Given the description of an element on the screen output the (x, y) to click on. 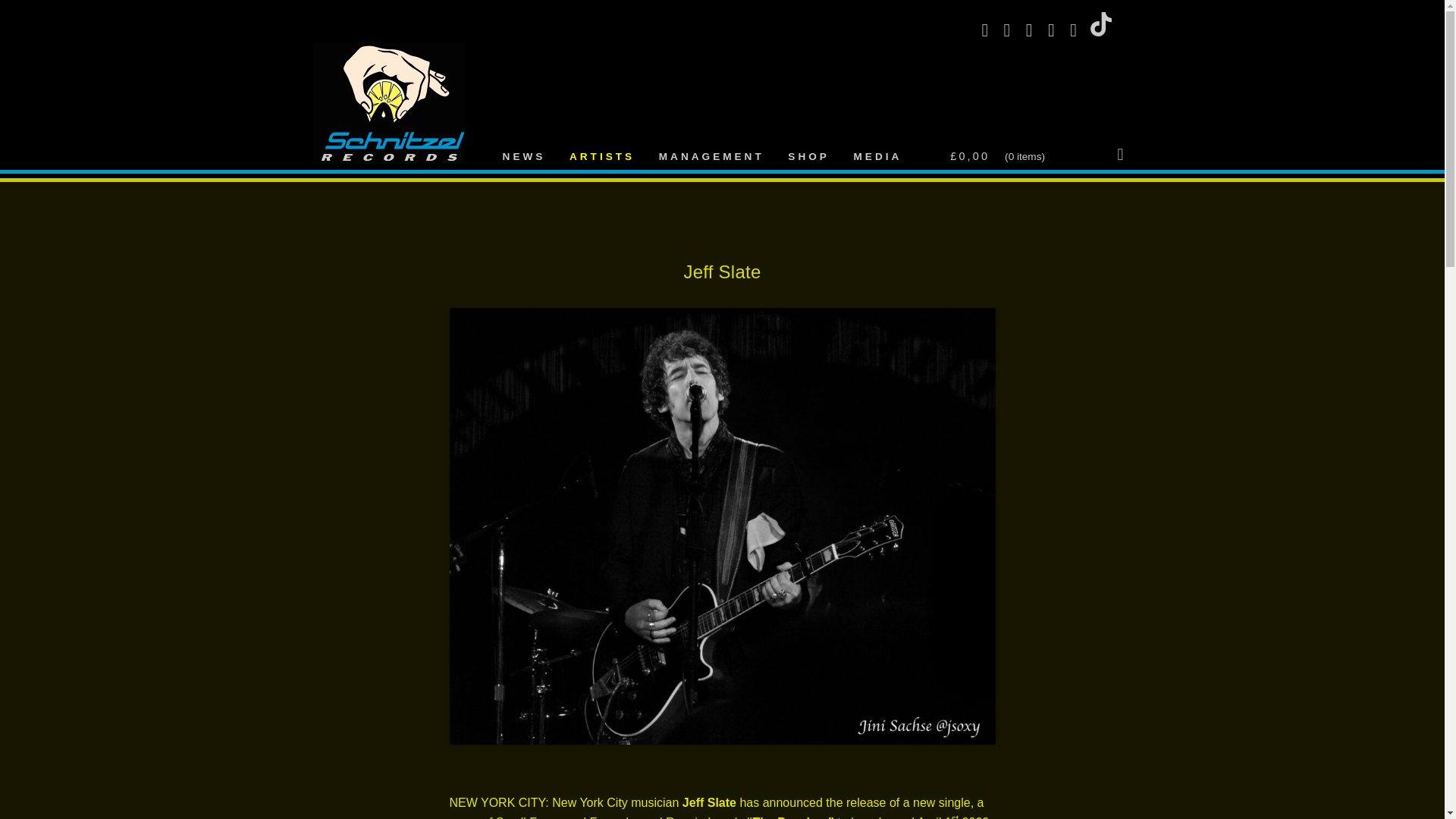
MEDIA (877, 152)
NEWS (524, 152)
Facebook (990, 31)
Instagram (1035, 31)
ARTISTS (602, 152)
MANAGEMENT (710, 152)
View your shopping cart (1037, 152)
Spotify (1057, 31)
Tik Tok (1107, 31)
